Given the description of an element on the screen output the (x, y) to click on. 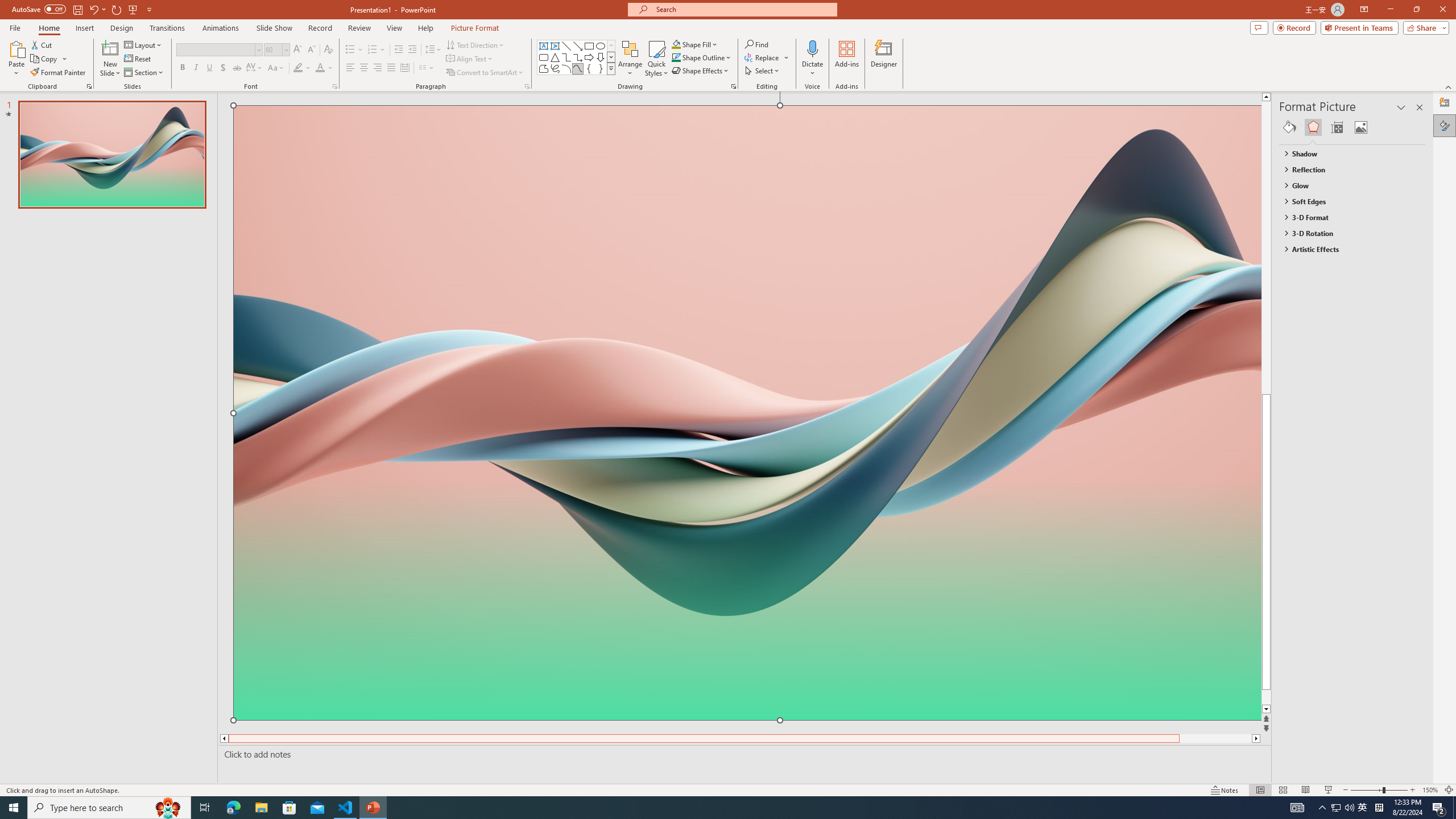
Soft Edges (1347, 201)
